Given the description of an element on the screen output the (x, y) to click on. 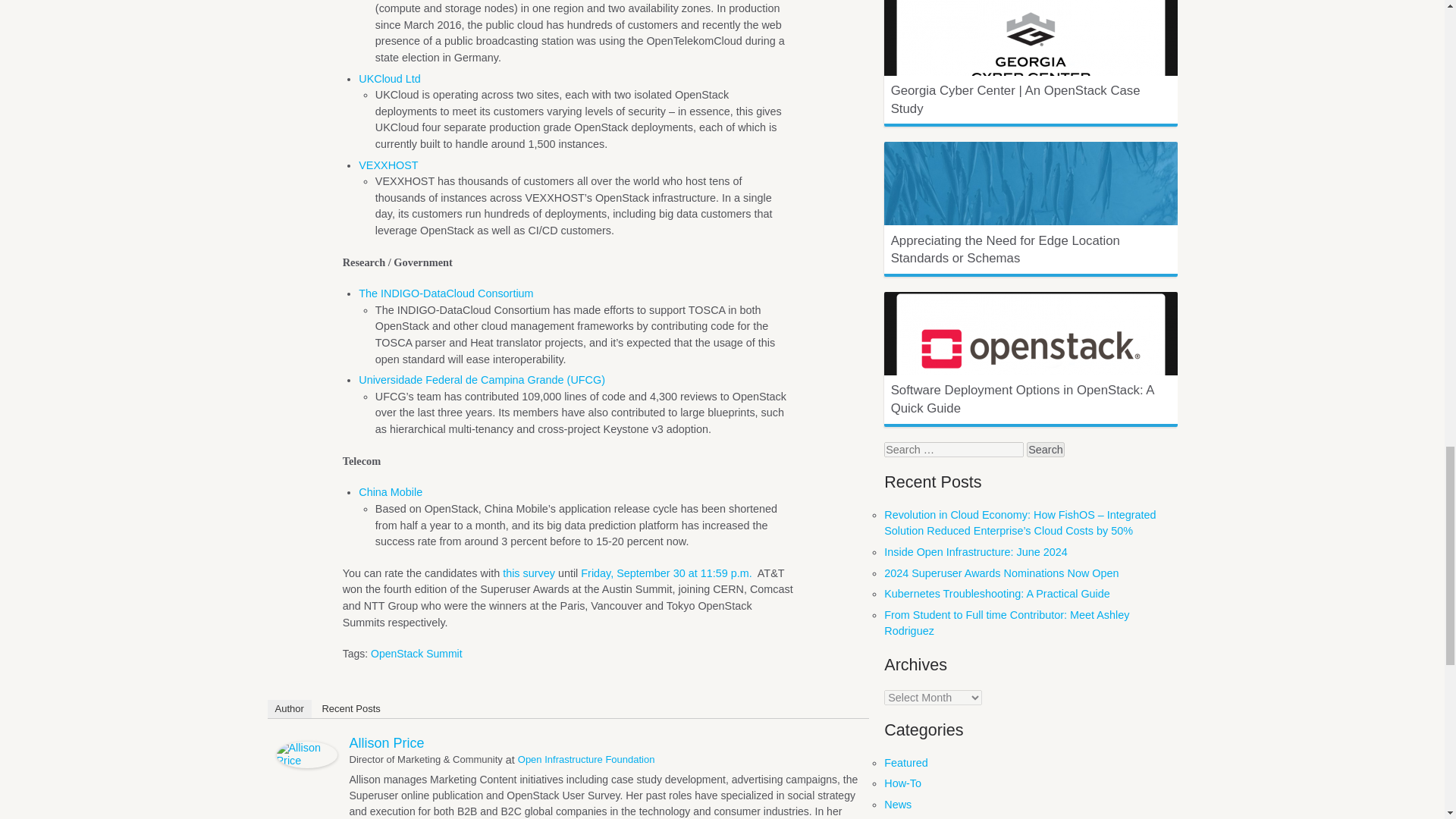
Author (288, 709)
VEXXHOST (387, 164)
this survey (528, 573)
Search (1045, 449)
Allison Price (386, 743)
Friday, September 30 at 11:59 p.m. (665, 573)
UKCloud Ltd (389, 78)
Search (1045, 449)
Open Infrastructure Foundation (586, 758)
The INDIGO-DataCloud Consortium (445, 293)
Allison Price (306, 764)
Recent Posts (350, 709)
OpenStack Summit (417, 653)
China Mobile (390, 491)
